Given the description of an element on the screen output the (x, y) to click on. 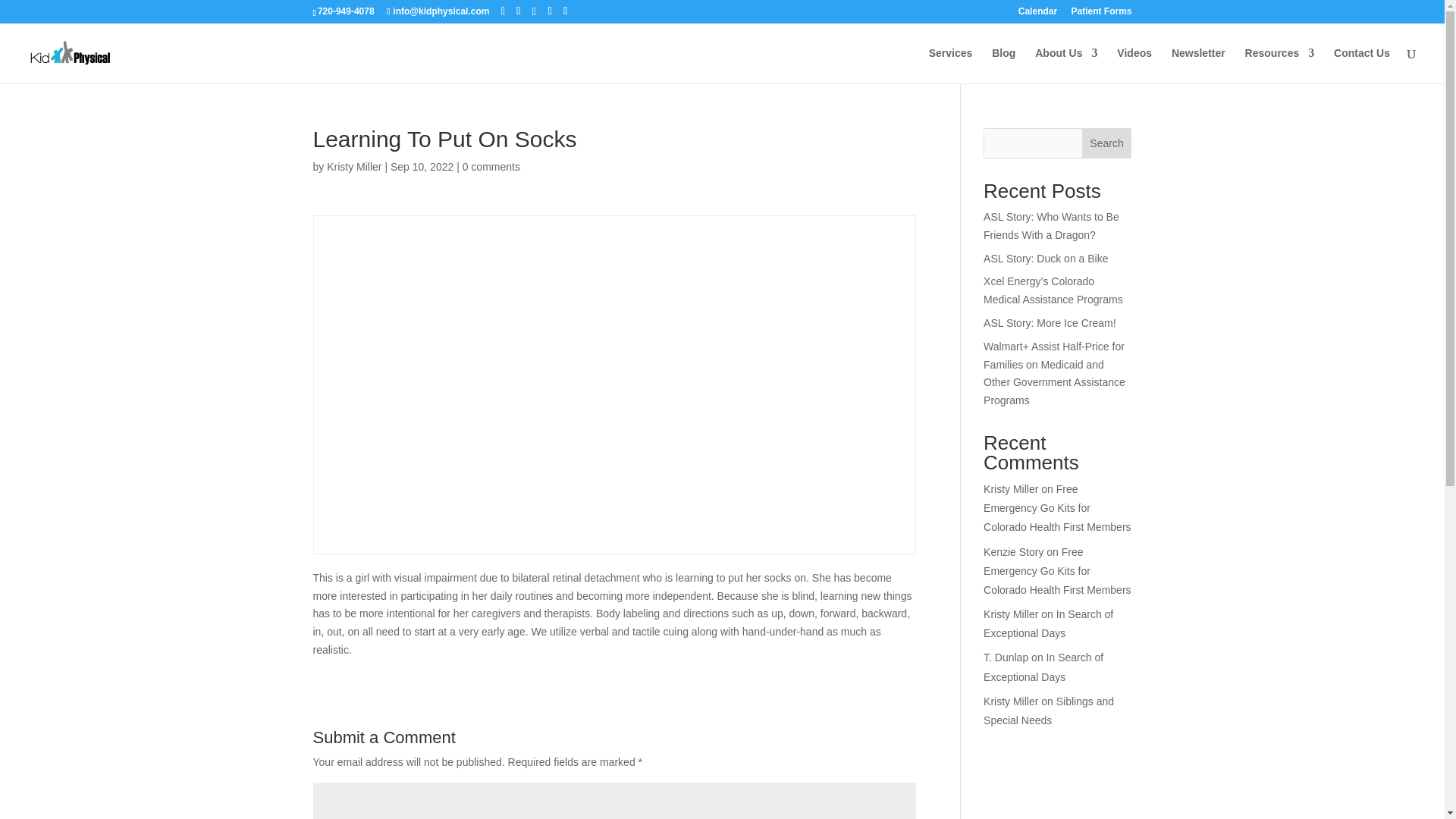
Contact Us (1361, 65)
Posts by Kristy Miller (353, 166)
Resources (1279, 65)
Videos (1133, 65)
Services (950, 65)
Calendar (1037, 14)
About Us (1066, 65)
Patient Forms (1100, 14)
Newsletter (1198, 65)
